Given the description of an element on the screen output the (x, y) to click on. 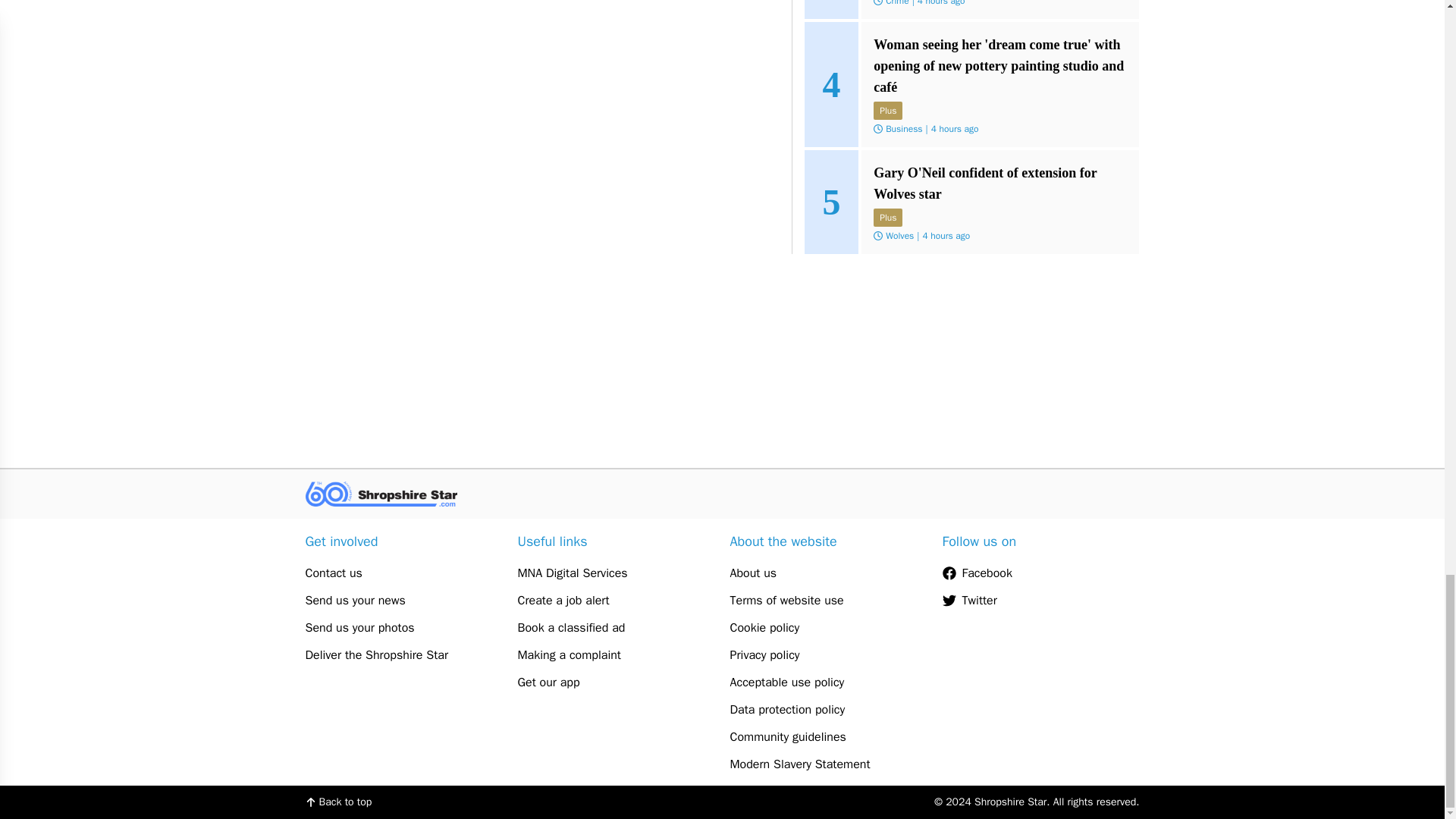
Wolves (899, 234)
Crime (896, 2)
Business (903, 128)
